Given the description of an element on the screen output the (x, y) to click on. 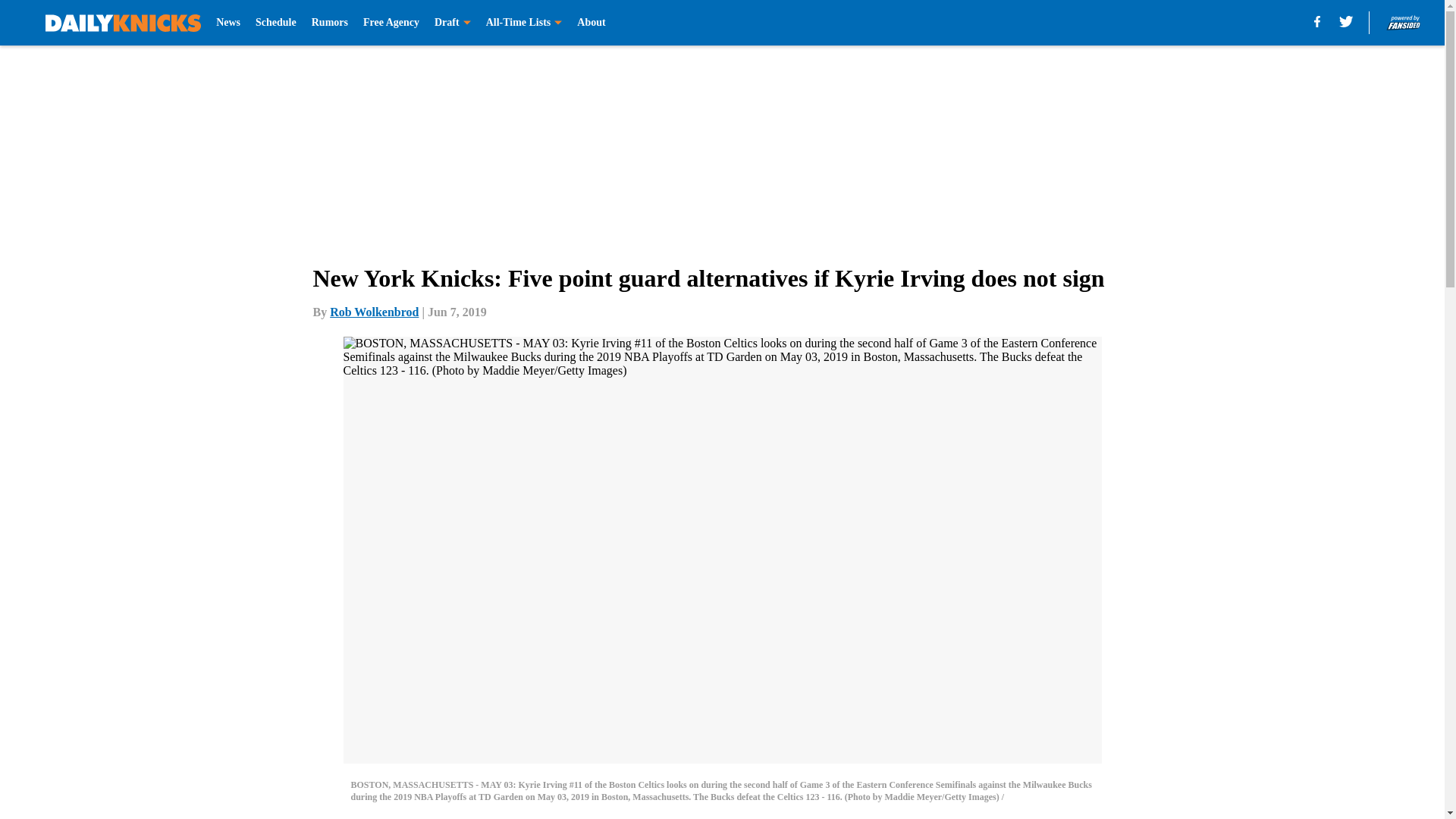
Schedule (276, 22)
About (590, 22)
News (227, 22)
Rob Wolkenbrod (374, 311)
All-Time Lists (524, 22)
Draft (451, 22)
Free Agency (390, 22)
Rumors (329, 22)
